Given the description of an element on the screen output the (x, y) to click on. 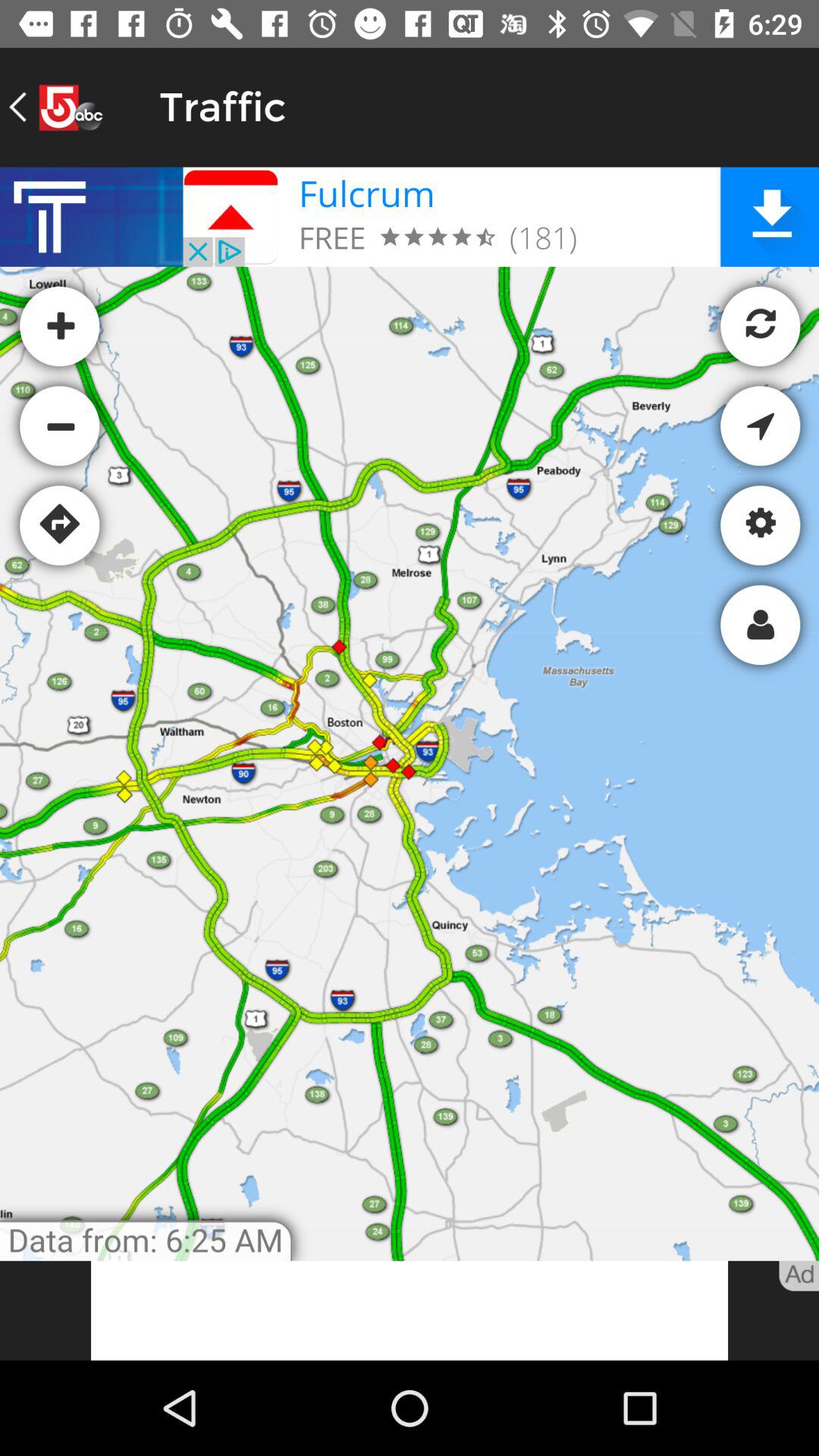
open advertisement (409, 1310)
